Given the description of an element on the screen output the (x, y) to click on. 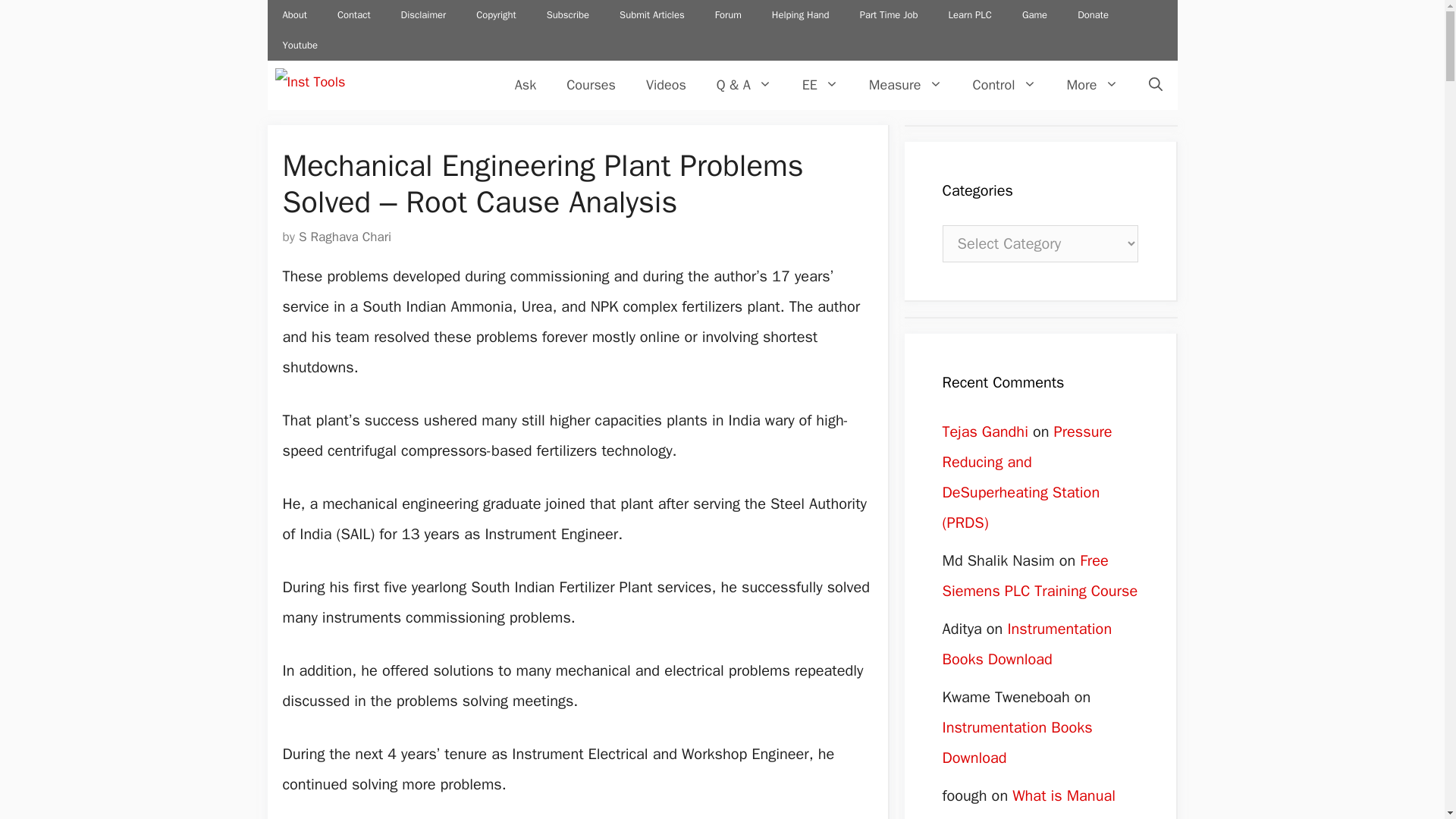
Ask Your Questions (525, 84)
Copyright (496, 15)
Videos (665, 84)
Courses (590, 84)
About (293, 15)
EE (820, 84)
Forum (728, 15)
Contact (353, 15)
Donate (1093, 15)
Disclaimer (423, 15)
Ask (525, 84)
Industrial Automation and Instrumentation Courses (590, 84)
Submit Articles (652, 15)
Helping Hand (800, 15)
Youtube (298, 45)
